Given the description of an element on the screen output the (x, y) to click on. 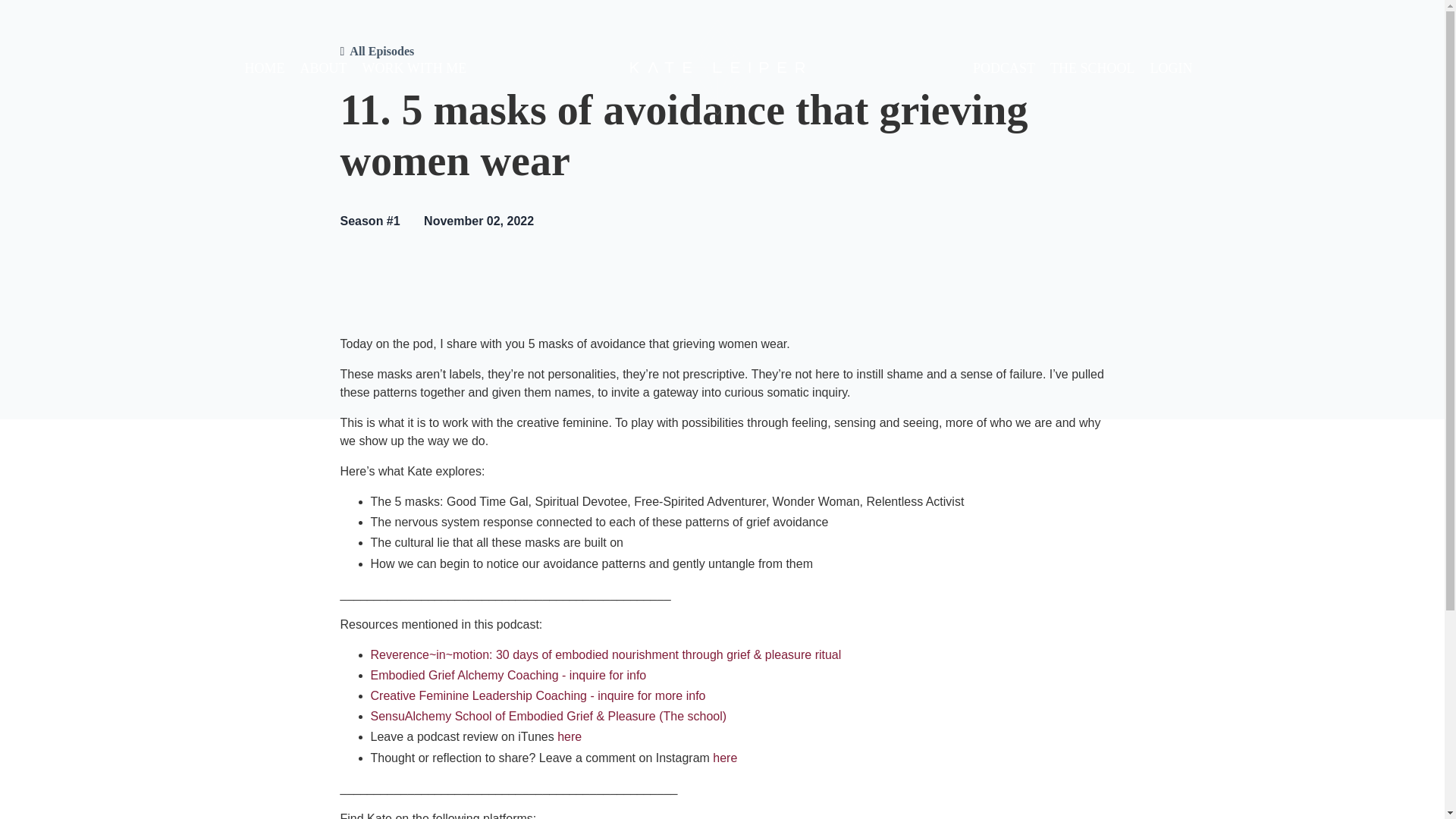
ABOUT (323, 67)
here (568, 736)
WORK WITH ME (414, 67)
LOGIN (1171, 67)
HOME (263, 67)
All Episodes (381, 51)
Embodied Grief Alchemy Coaching - inquire for info (507, 675)
here (724, 757)
PODCAST (1003, 67)
